Given the description of an element on the screen output the (x, y) to click on. 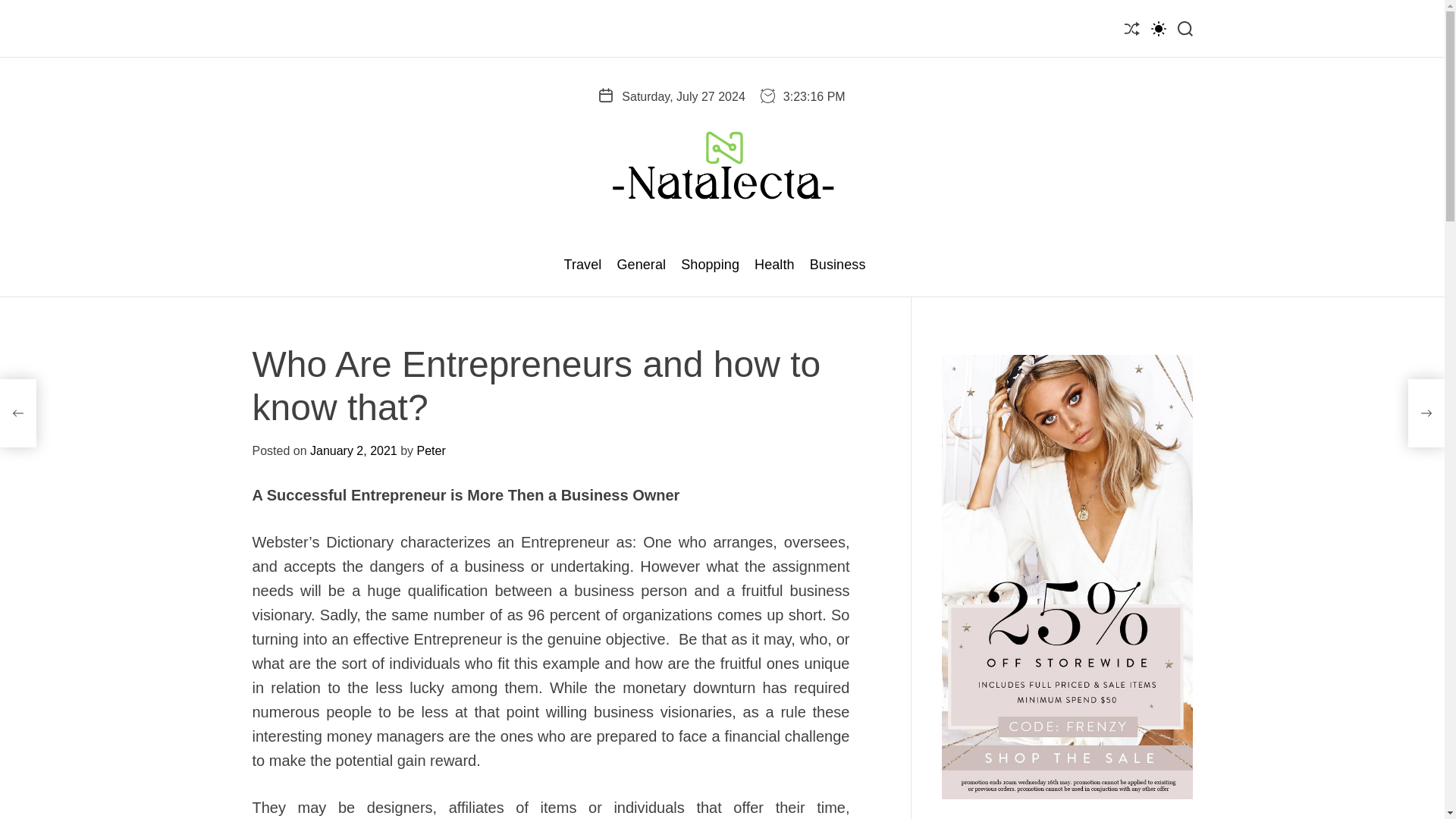
Health (774, 265)
General (640, 265)
Travel (582, 265)
January 2, 2021 (353, 450)
Business (837, 265)
Peter (430, 450)
Shopping (710, 265)
